Given the description of an element on the screen output the (x, y) to click on. 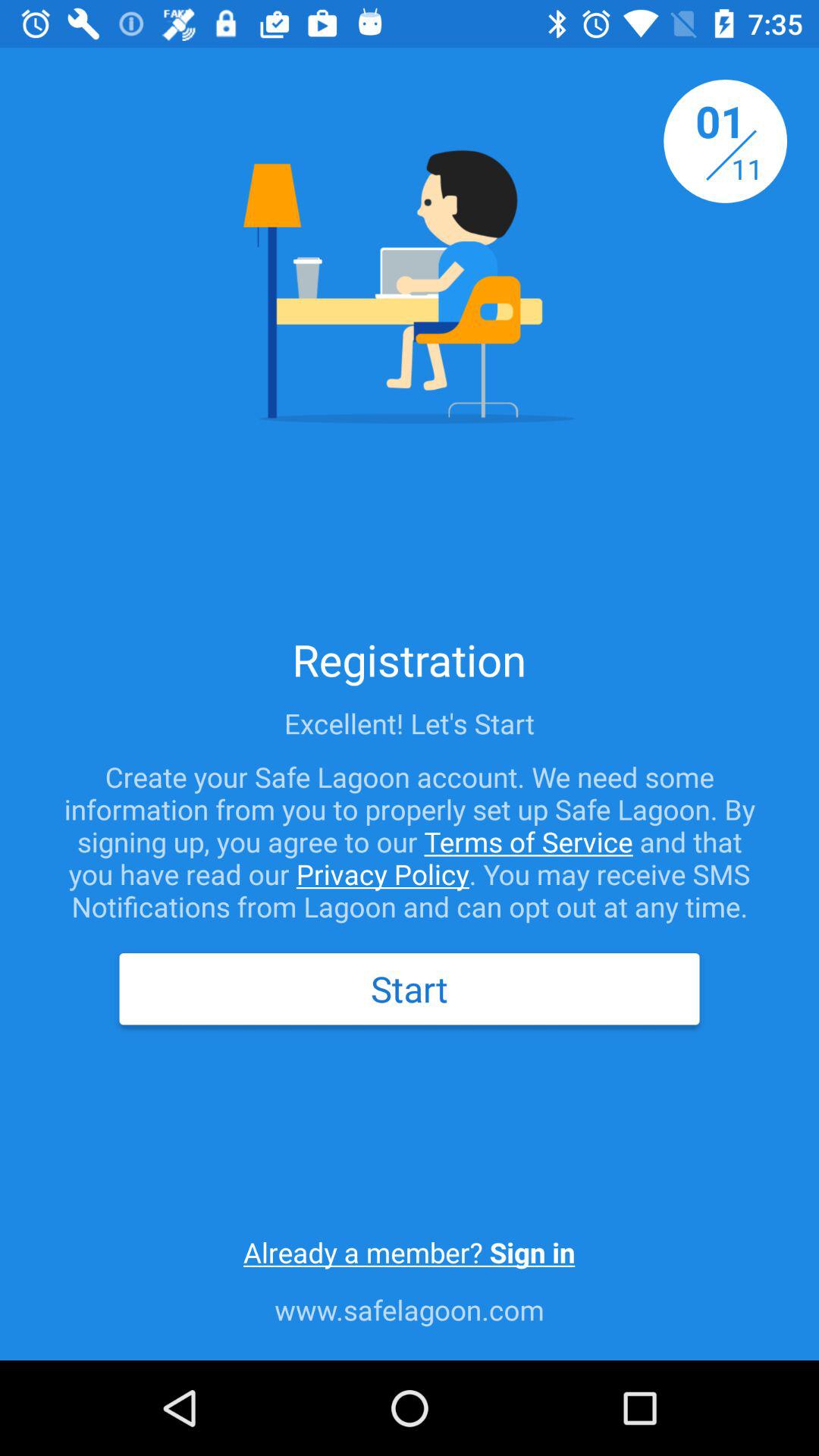
flip until create your safe item (409, 841)
